Given the description of an element on the screen output the (x, y) to click on. 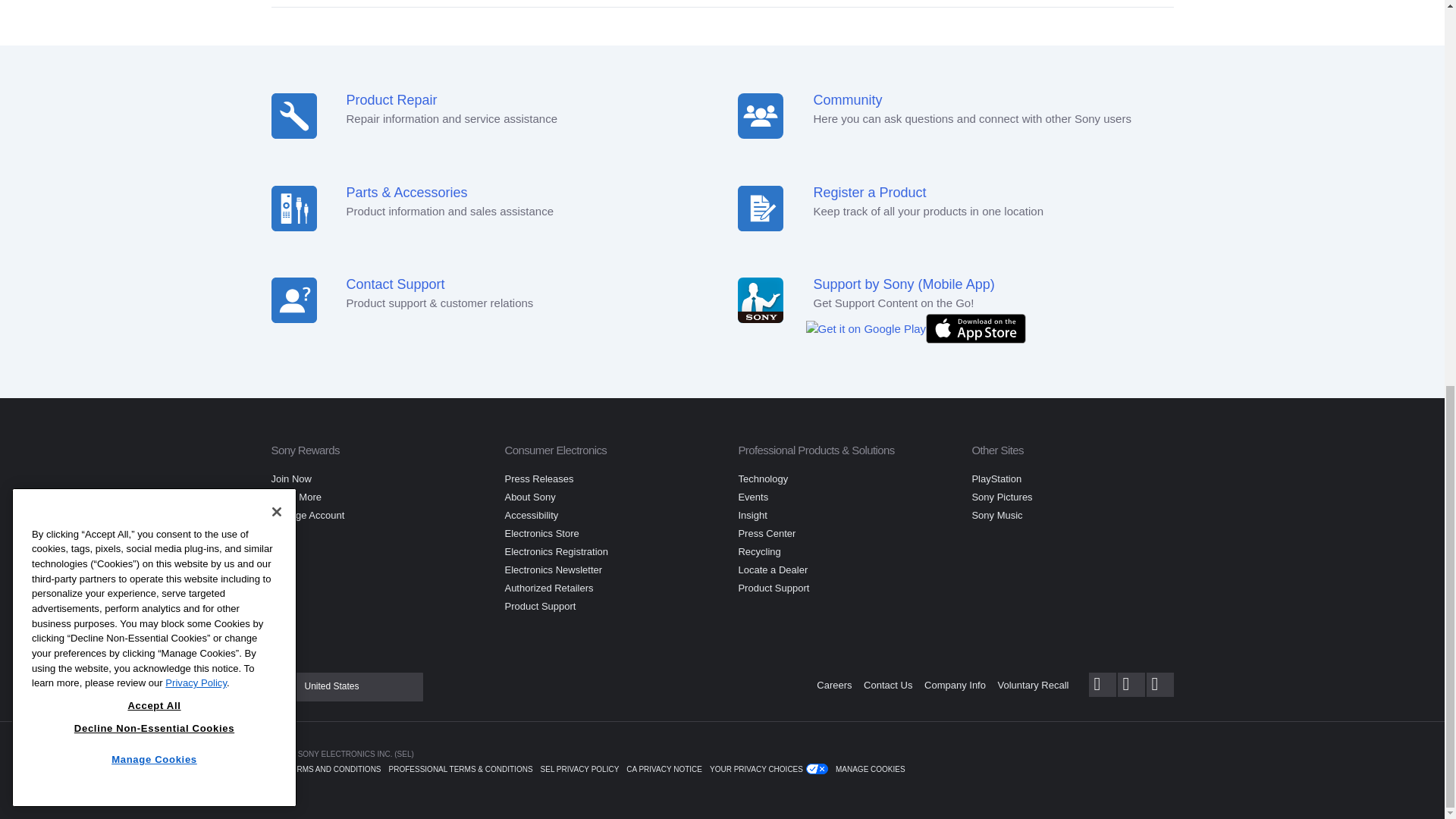
Join Now (290, 478)
Electronics Store (540, 532)
Accessibility (530, 514)
Electronics Registration (555, 551)
Manage Account (307, 514)
Press Releases (538, 478)
Learn More (295, 496)
Electronics Newsletter (552, 569)
Learn More (295, 496)
Join Now (290, 478)
About Sony (528, 496)
